Given the description of an element on the screen output the (x, y) to click on. 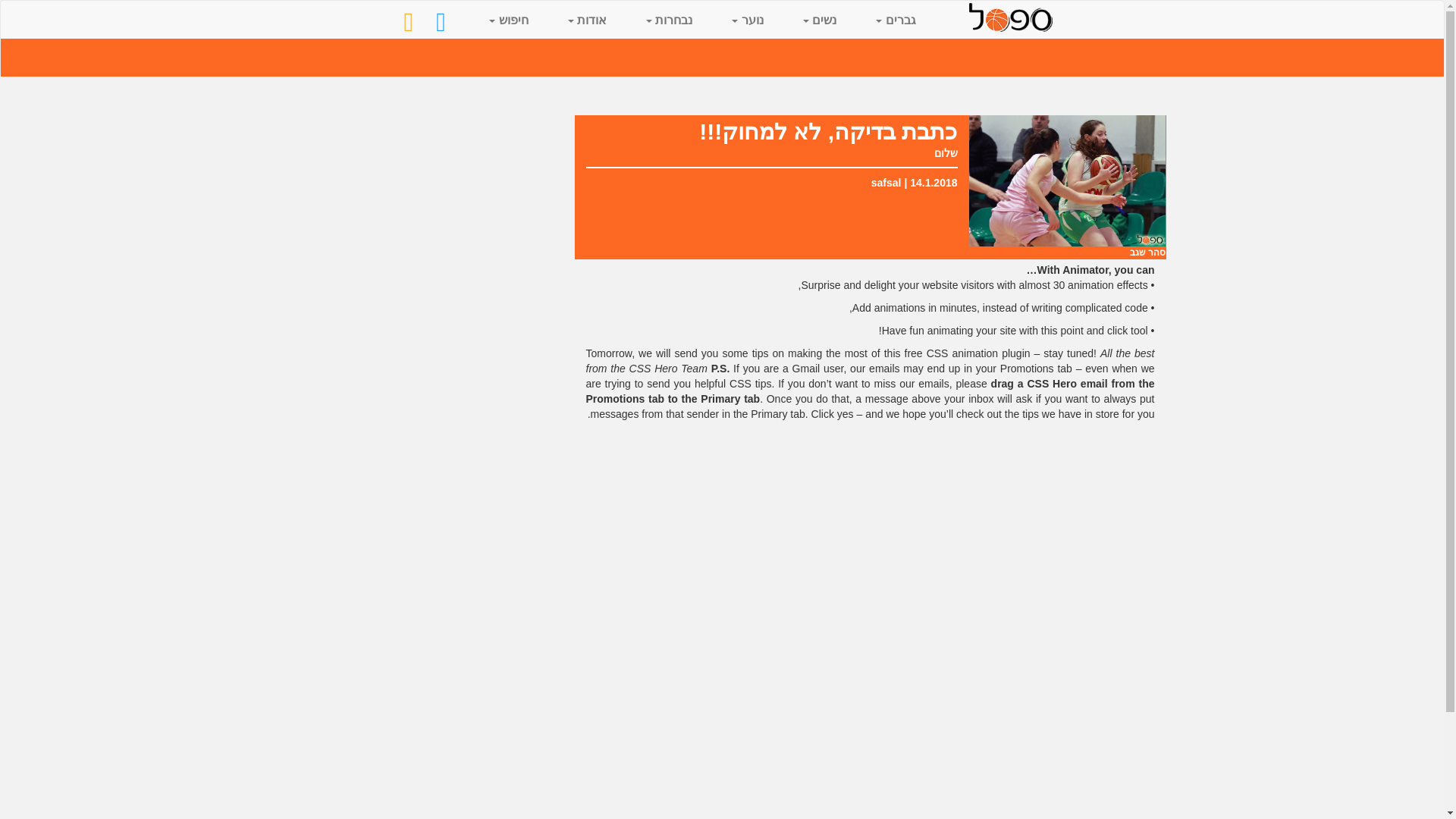
logo-1 (1010, 15)
